Given the description of an element on the screen output the (x, y) to click on. 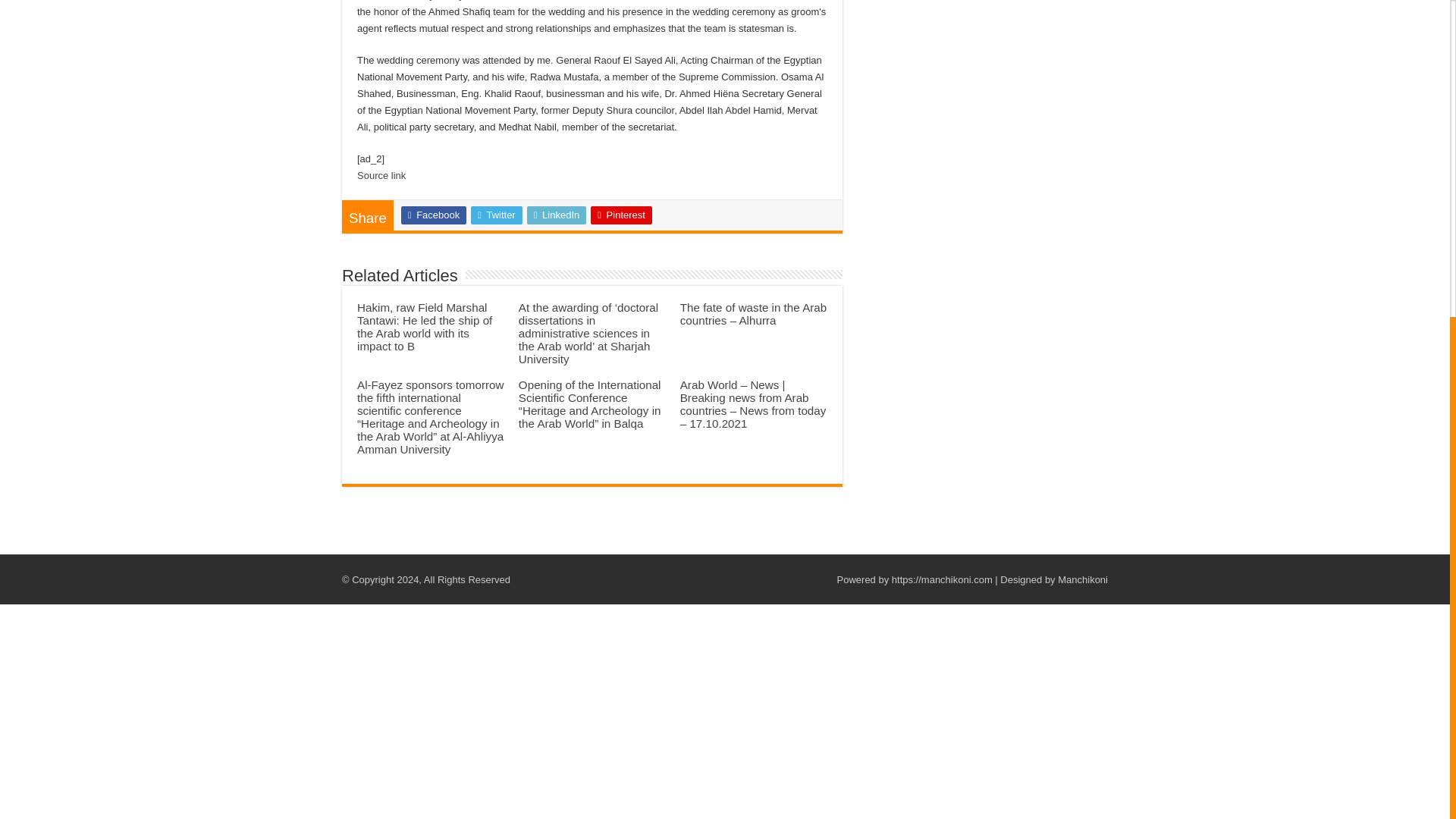
Twitter (495, 215)
LinkedIn (556, 215)
Source link (381, 174)
Pinterest (621, 215)
Facebook (433, 215)
